Given the description of an element on the screen output the (x, y) to click on. 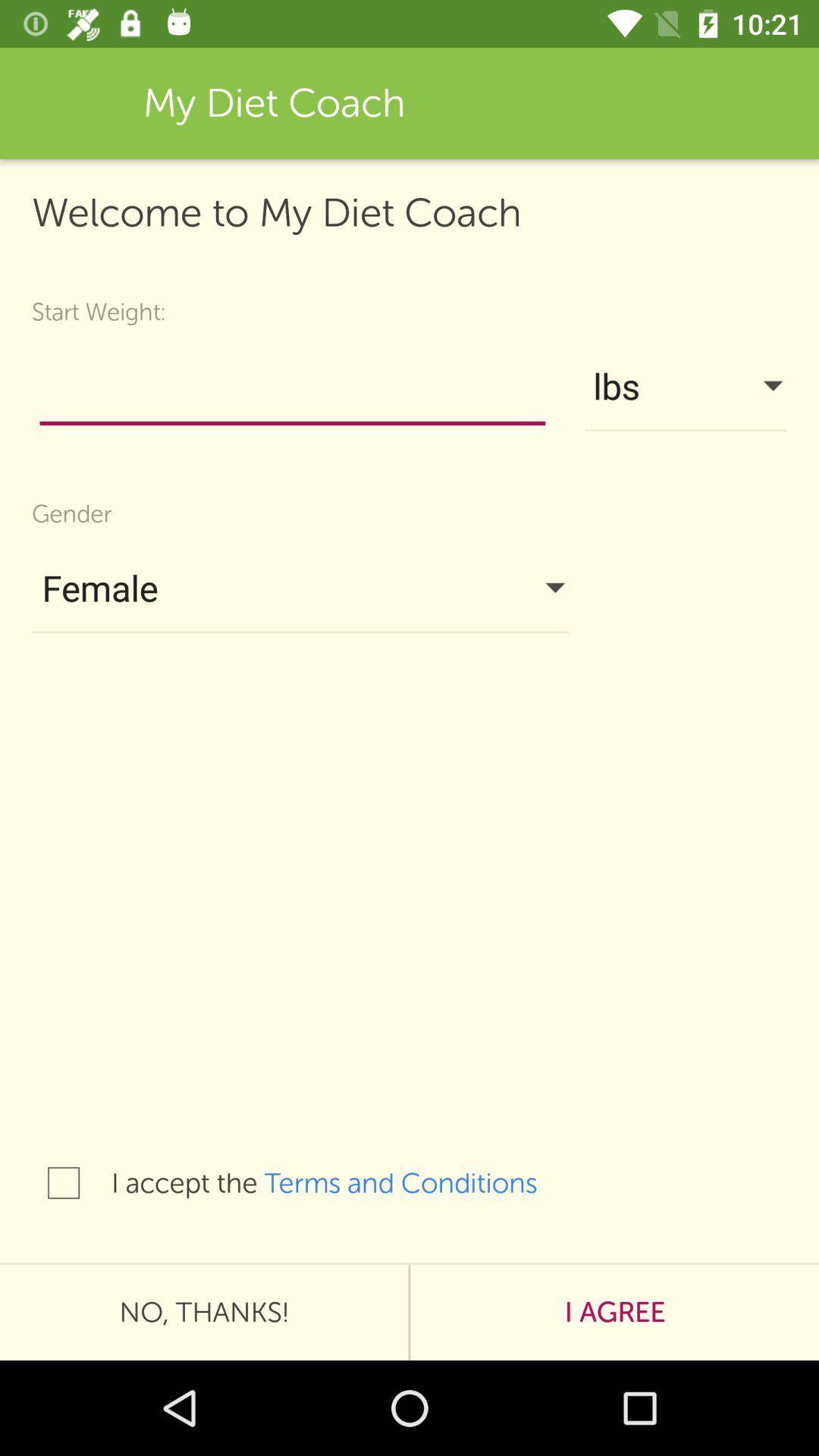
open item next to the i accept the  item (63, 1182)
